Given the description of an element on the screen output the (x, y) to click on. 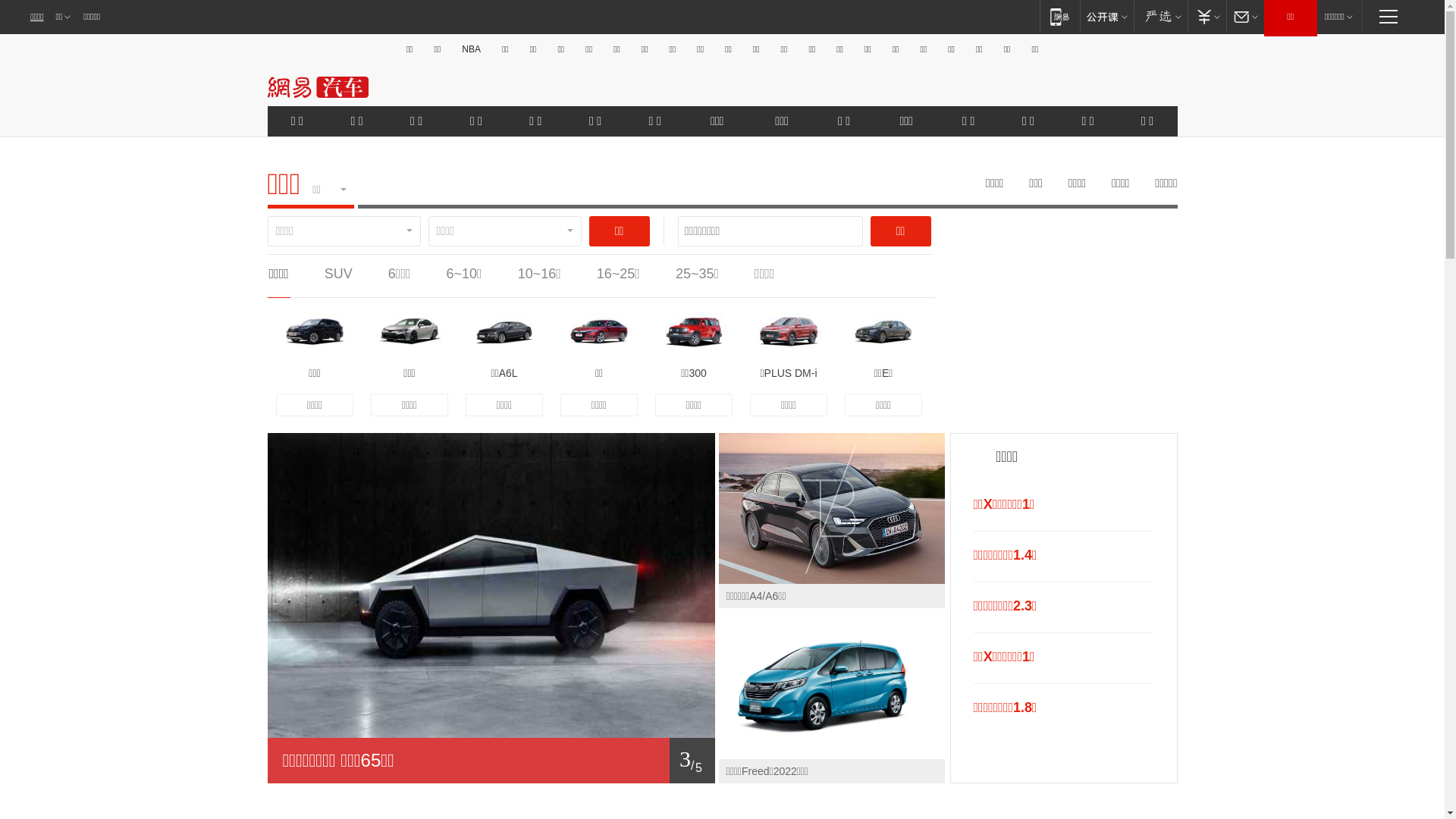
1/ 5 Element type: text (490, 760)
SUV Element type: text (338, 273)
NBA Element type: text (471, 48)
